Given the description of an element on the screen output the (x, y) to click on. 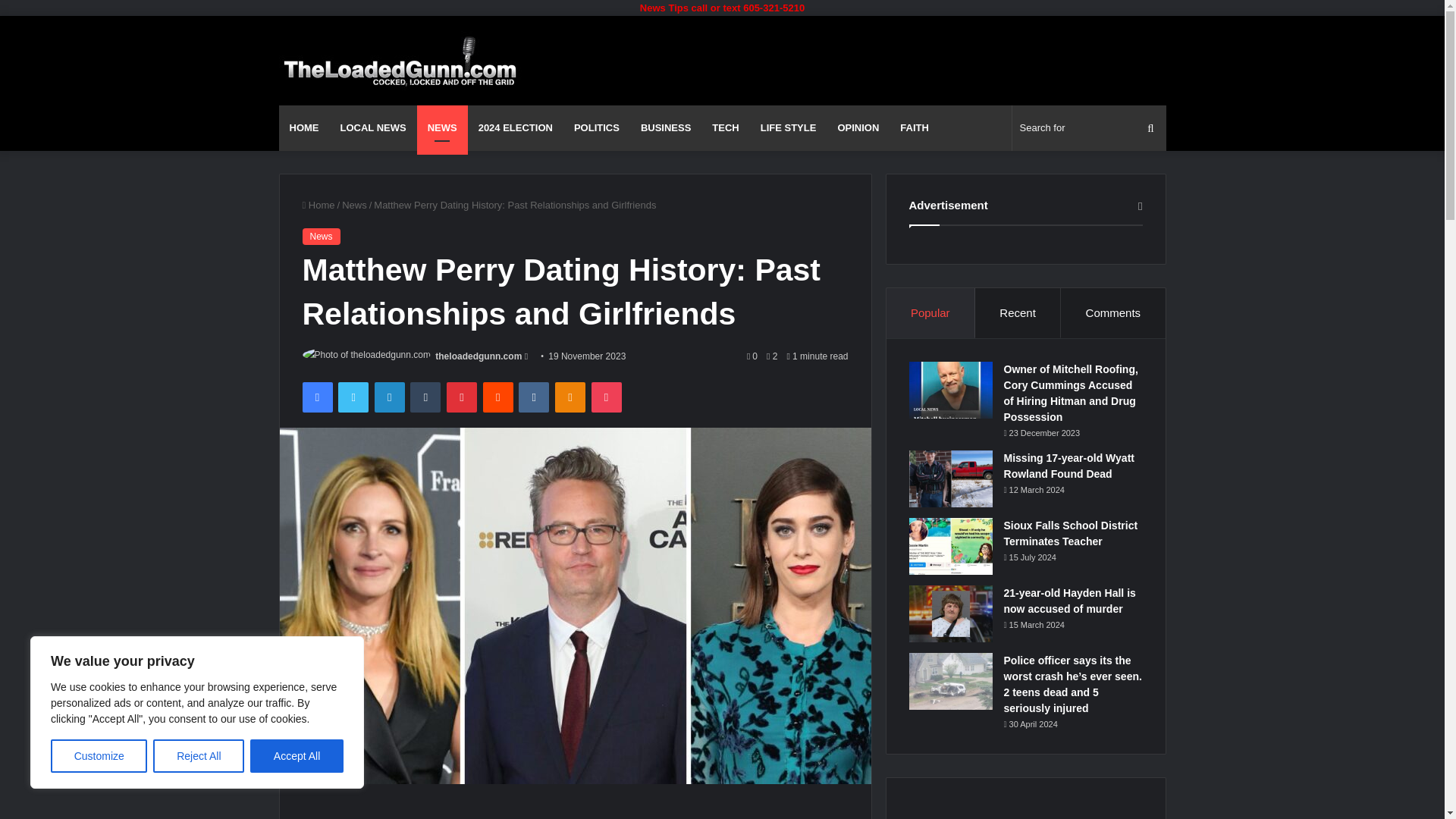
OPINION (858, 127)
Twitter (352, 397)
Accept All (296, 756)
Pocket (606, 397)
theloadedgunn.com (478, 356)
Facebook (316, 397)
HOME (304, 127)
LIFE STYLE (788, 127)
Search for (1088, 127)
theloadedgunn.com (478, 356)
